Given the description of an element on the screen output the (x, y) to click on. 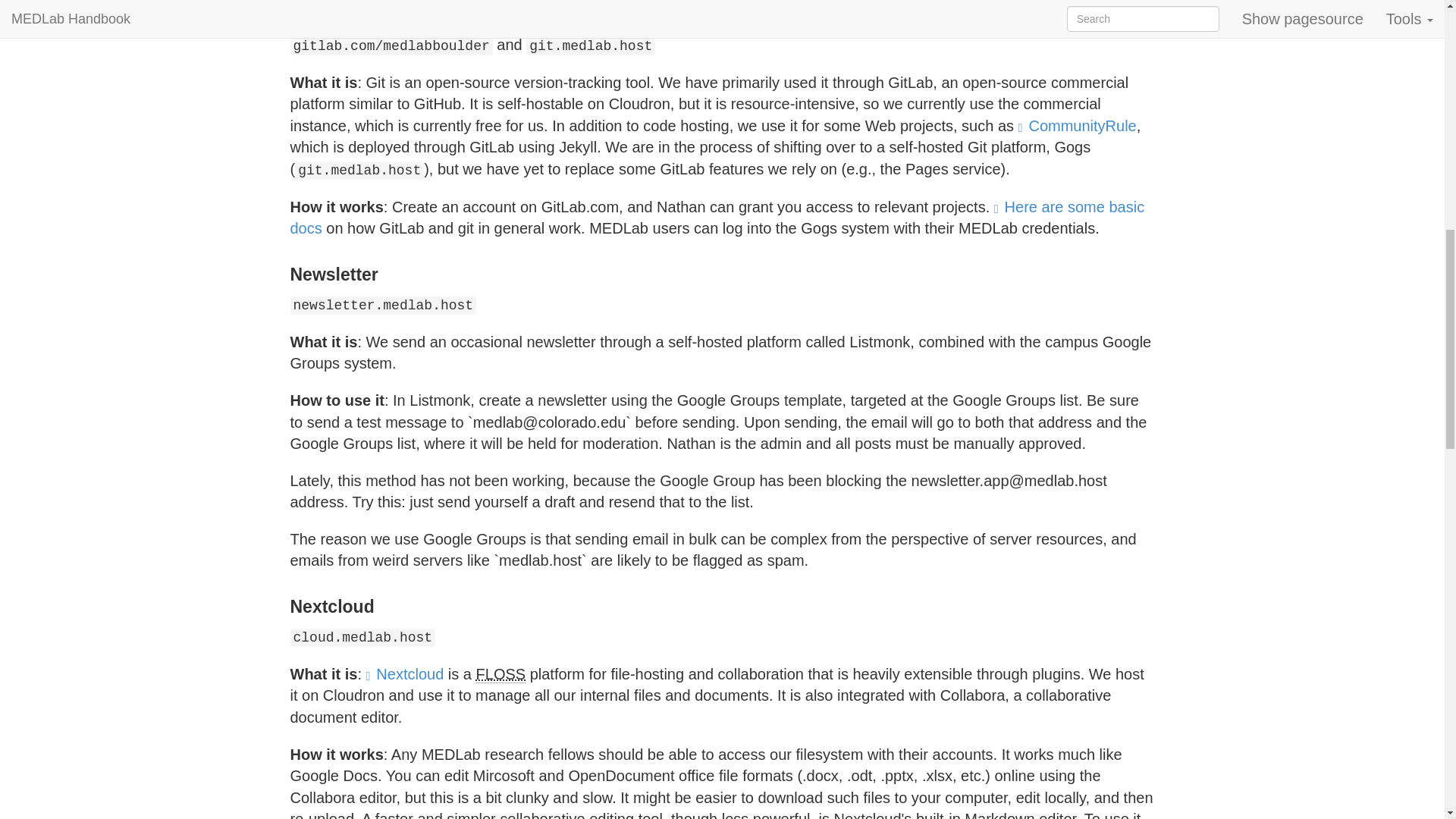
Nextcloud (405, 673)
Here are some basic docs (716, 218)
CommunityRule (1077, 125)
